Given the description of an element on the screen output the (x, y) to click on. 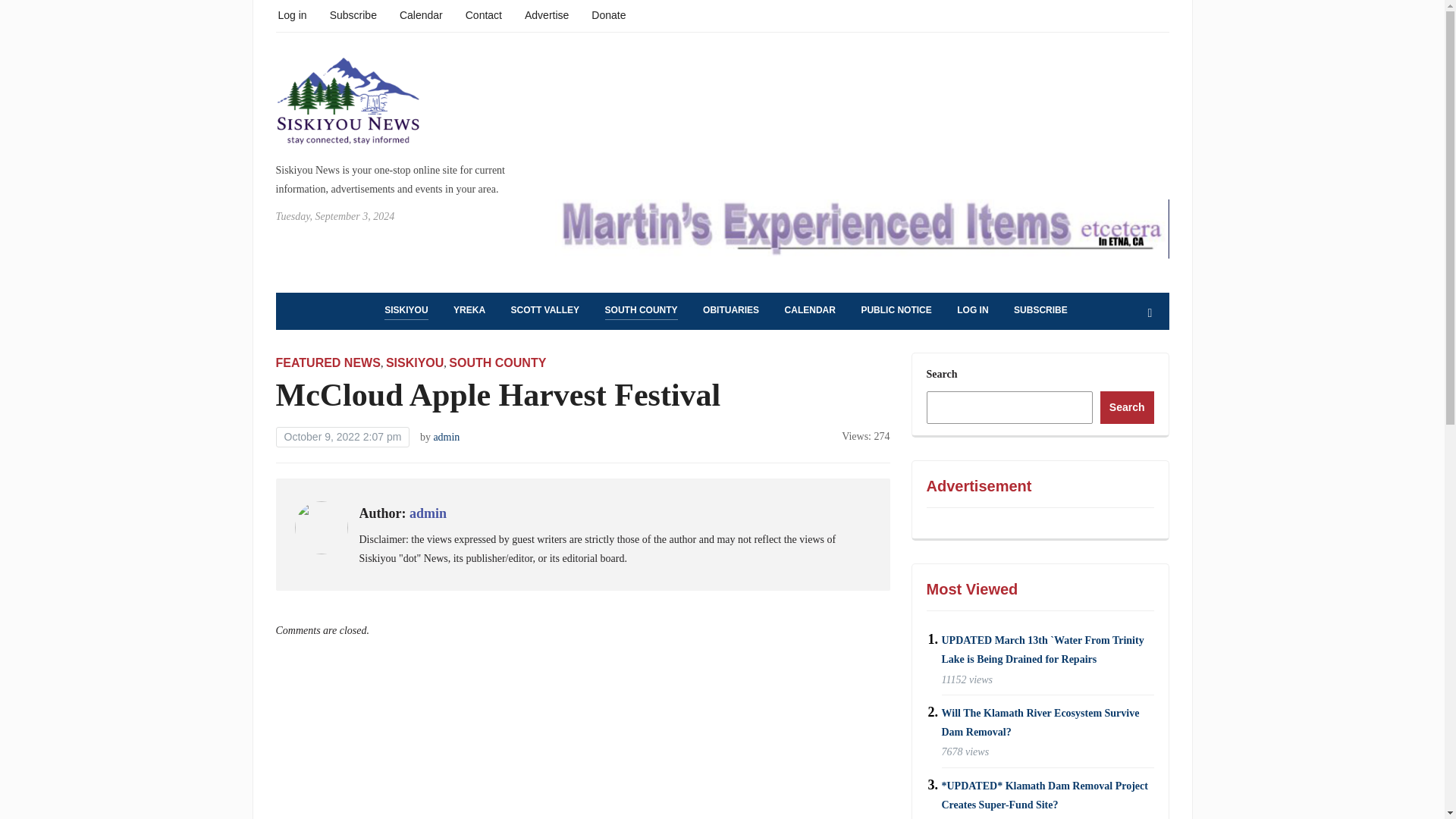
Search (1149, 313)
Advertise (546, 14)
YREKA (468, 310)
SUBSCRIBE (1040, 310)
FEATURED NEWS (328, 362)
SCOTT VALLEY (545, 310)
Contact (483, 14)
CALENDAR (809, 310)
SISKIYOU (414, 362)
